Given the description of an element on the screen output the (x, y) to click on. 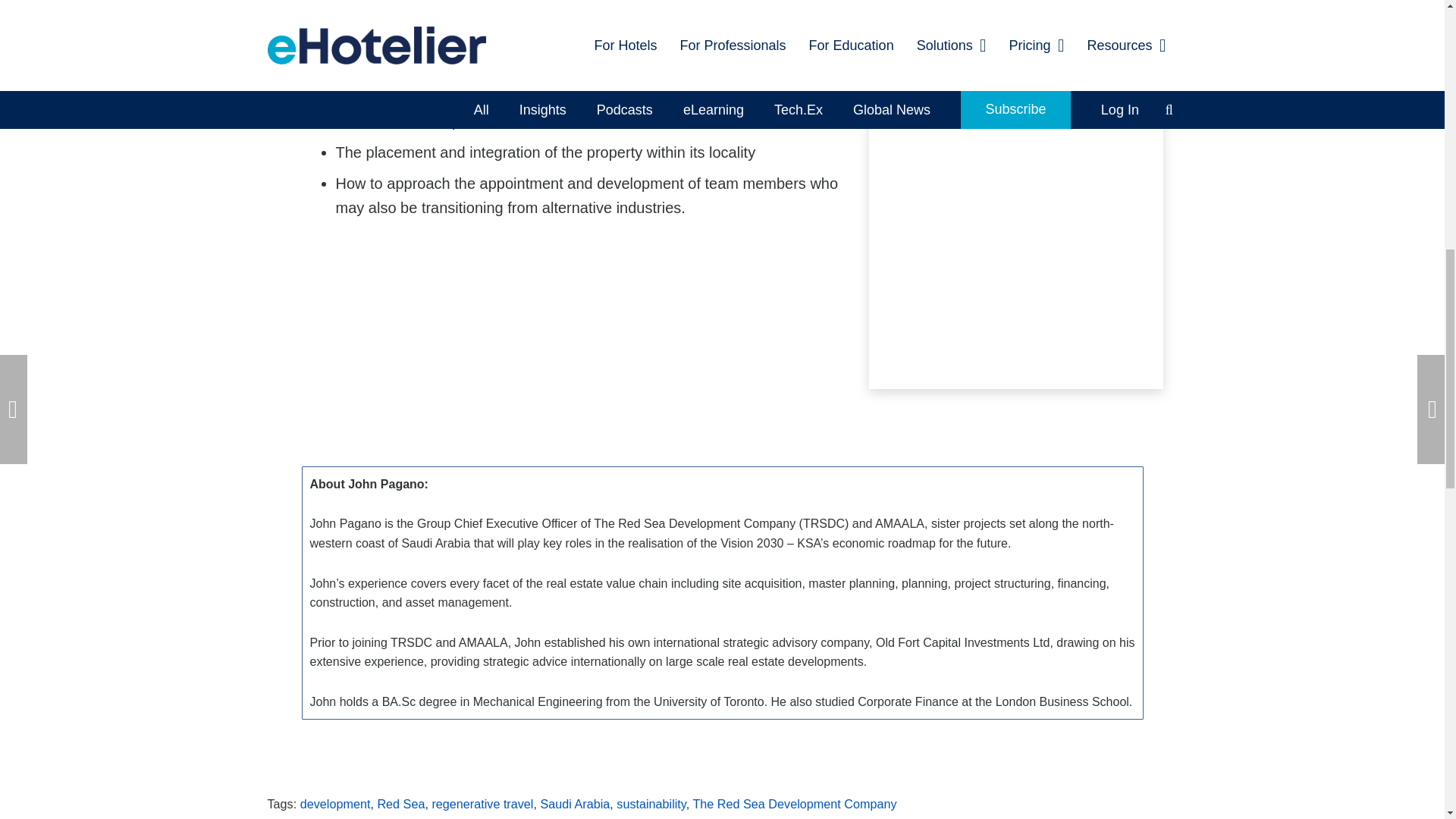
Back to top (1413, 26)
